Given the description of an element on the screen output the (x, y) to click on. 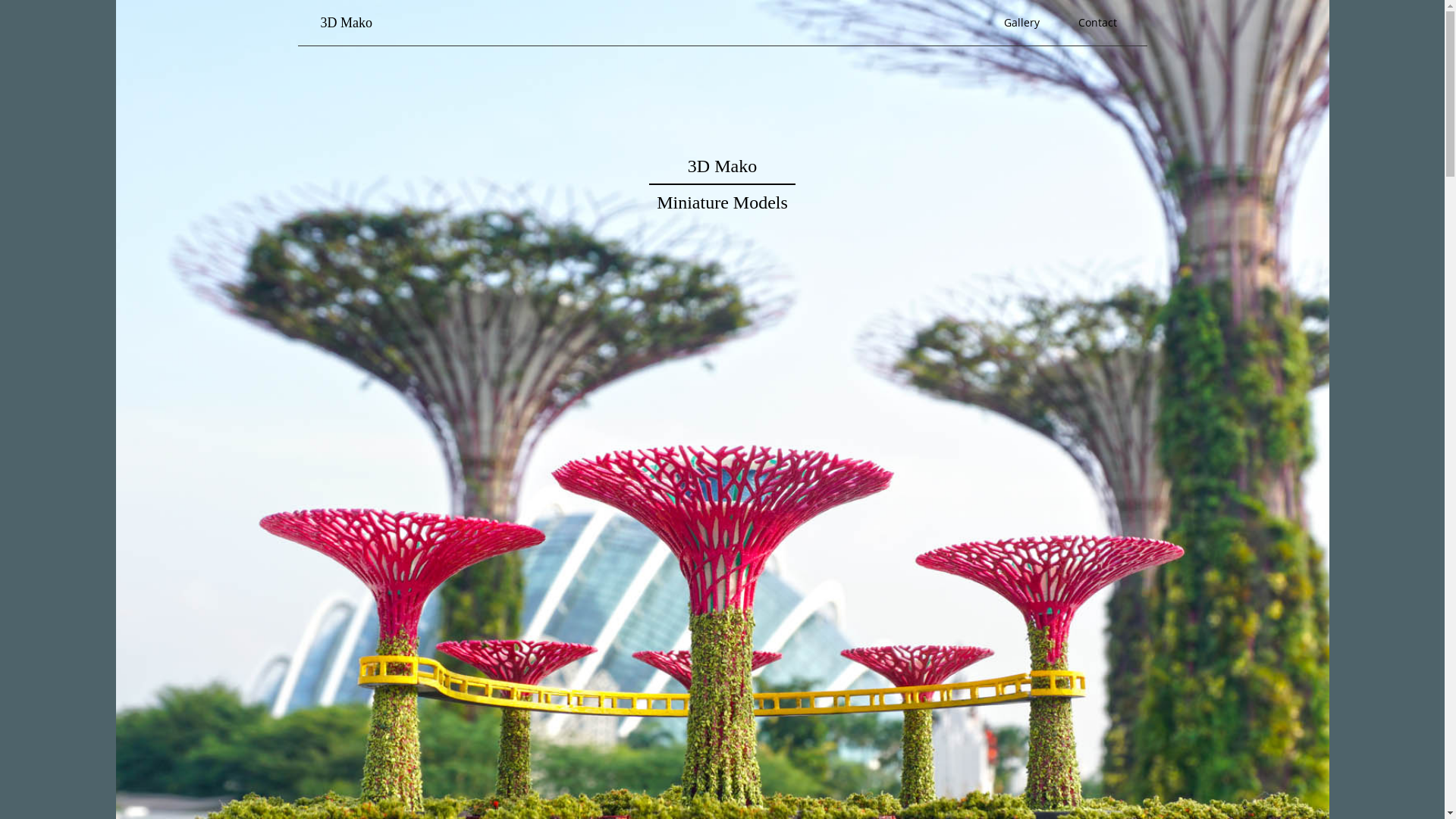
3D Mako Element type: text (346, 22)
Contact Element type: text (1097, 22)
Skip to main content Element type: text (115, 0)
Gallery Element type: text (1022, 22)
